Given the description of an element on the screen output the (x, y) to click on. 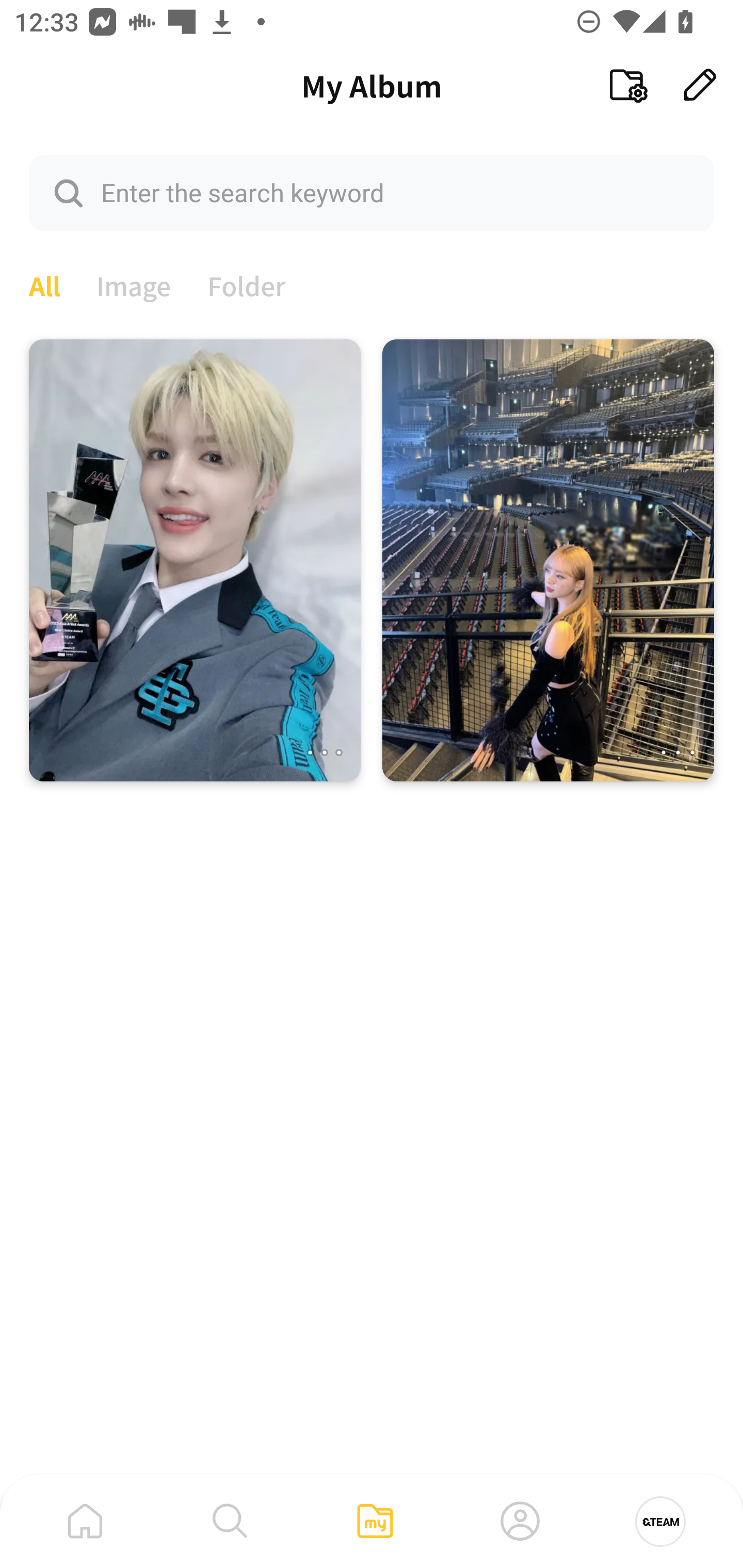
Enter the search keyword (371, 192)
All (44, 284)
Image (133, 284)
Folder (246, 284)
